Given the description of an element on the screen output the (x, y) to click on. 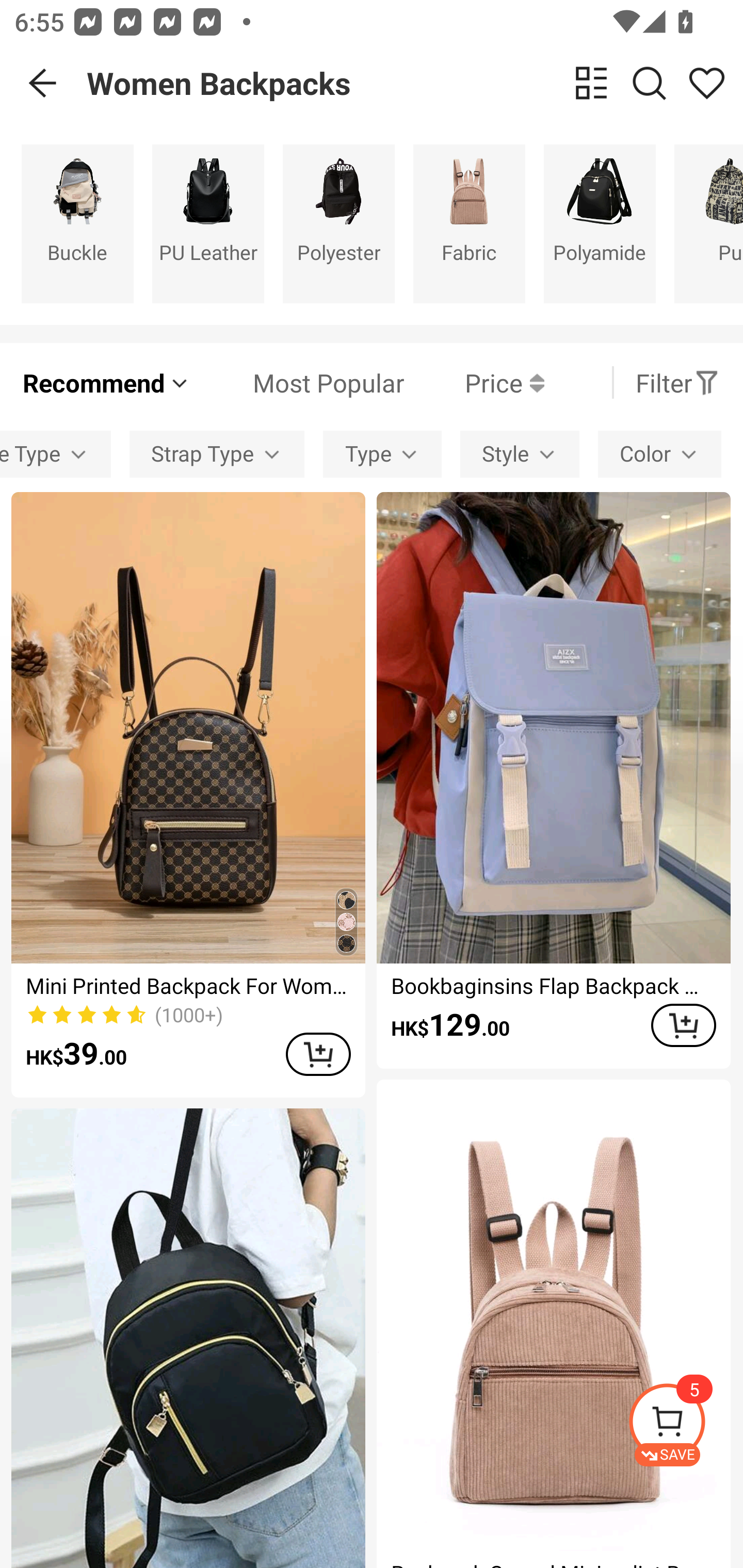
Women Backpacks change view Search Share (414, 82)
change view (591, 82)
Search (648, 82)
Share (706, 82)
Buckle (77, 223)
PU Leather (208, 223)
Polyester (338, 223)
Fabric (469, 223)
Polyamide (599, 223)
Pu (708, 223)
Recommend (106, 382)
Most Popular (297, 382)
Price (474, 382)
Filter (677, 382)
Closure Type (55, 454)
Strap Type (216, 454)
Type (382, 454)
Style (519, 454)
Color (659, 454)
ADD TO CART (683, 1025)
ADD TO CART (318, 1054)
SAVE (685, 1424)
